Given the description of an element on the screen output the (x, y) to click on. 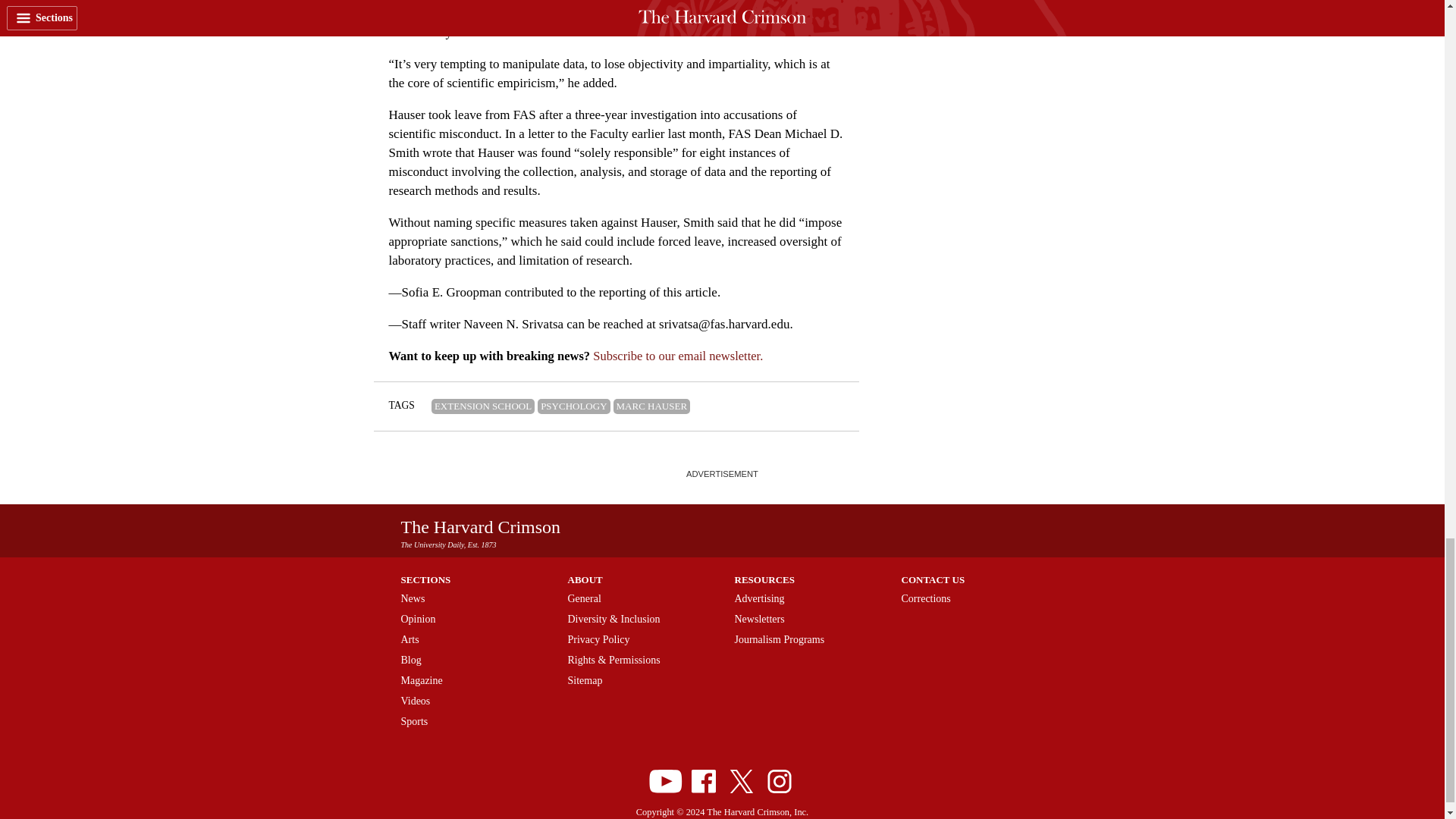
Subscribe to our email newsletter. (677, 355)
EXTENSION SCHOOL (482, 406)
PSYCHOLOGY (573, 406)
MARC HAUSER (651, 406)
